Given the description of an element on the screen output the (x, y) to click on. 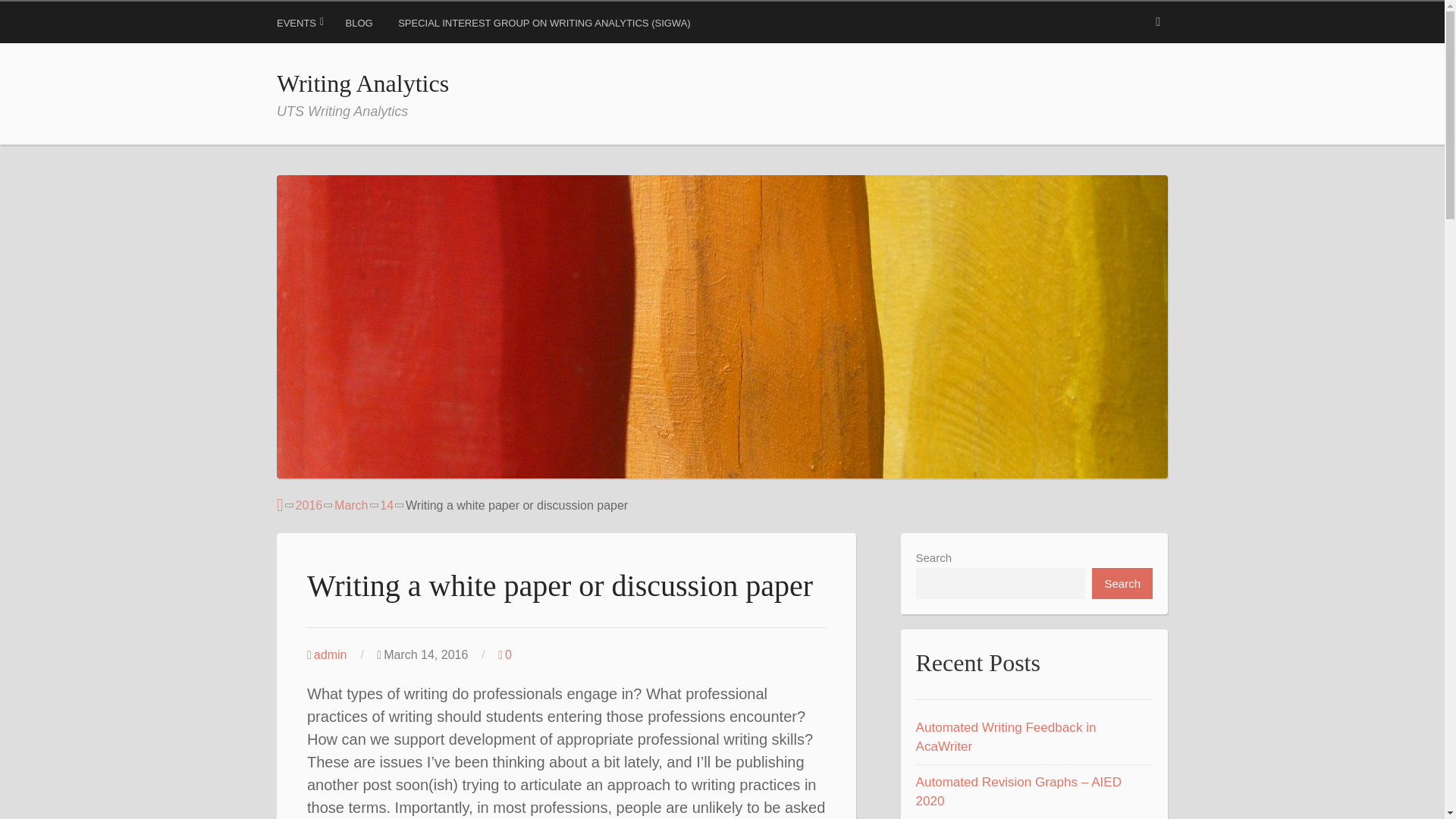
Monday, March 14, 2016, 12:11 am (433, 655)
Search (30, 15)
March (351, 505)
Posts by admin (326, 654)
Writing Analytics (362, 83)
Automated Writing Feedback in AcaWriter (1005, 737)
BLOG (361, 26)
2016 (309, 505)
Search (1122, 583)
admin (326, 654)
EVENTS (299, 26)
